Given the description of an element on the screen output the (x, y) to click on. 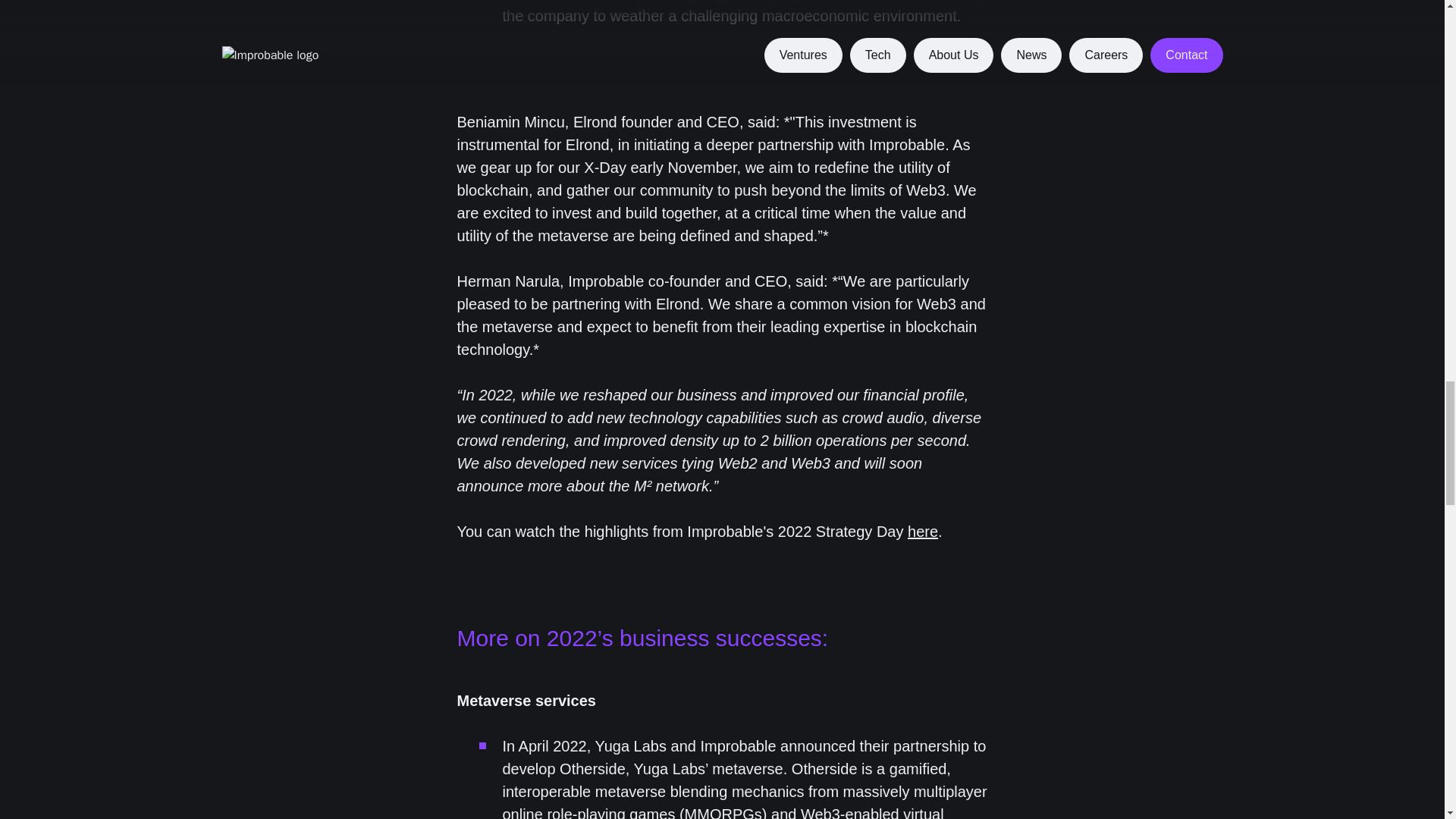
here (922, 531)
